Given the description of an element on the screen output the (x, y) to click on. 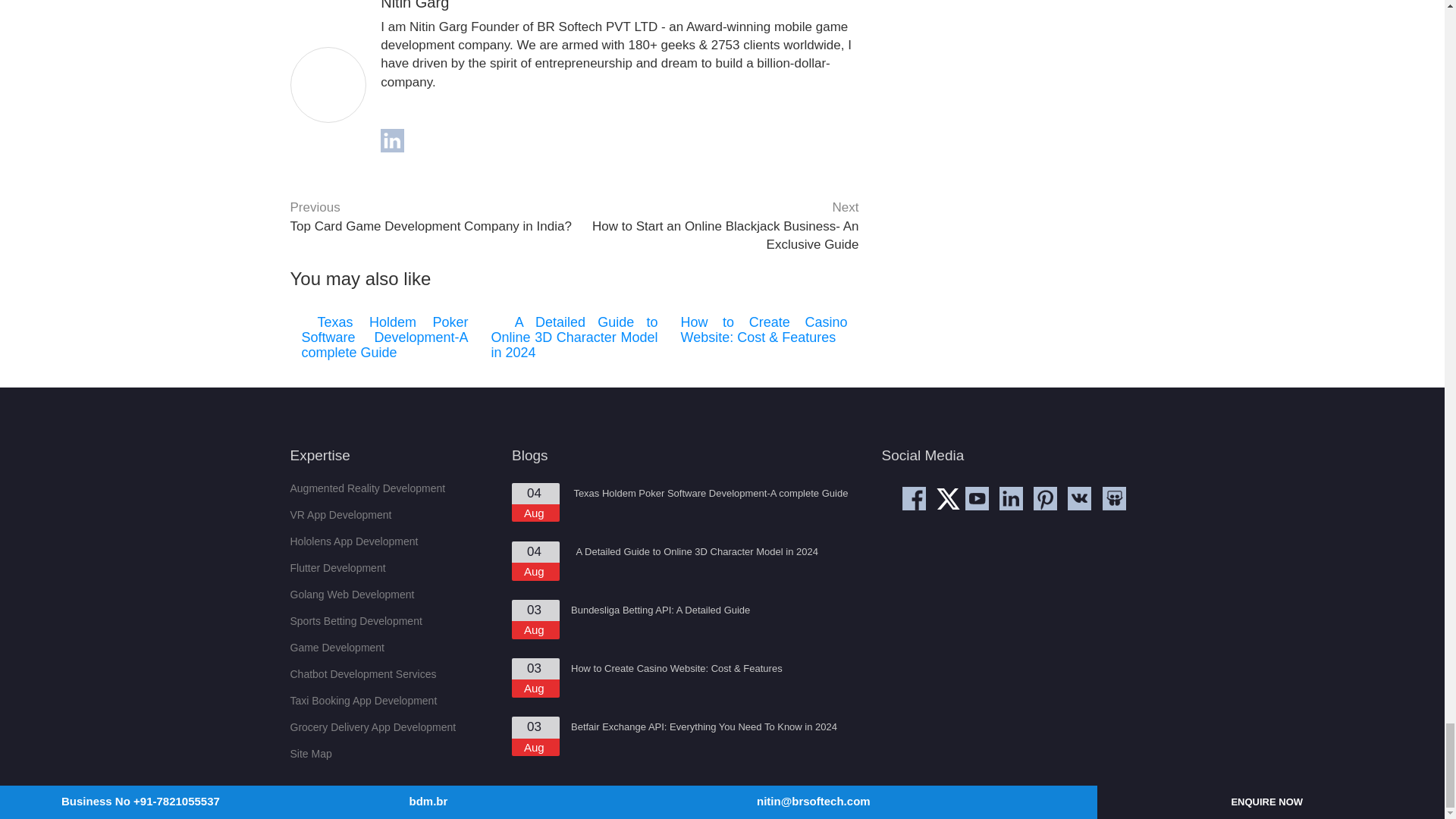
Website (414, 5)
Created with Fabric.js 3.6.6 (948, 498)
